Given the description of an element on the screen output the (x, y) to click on. 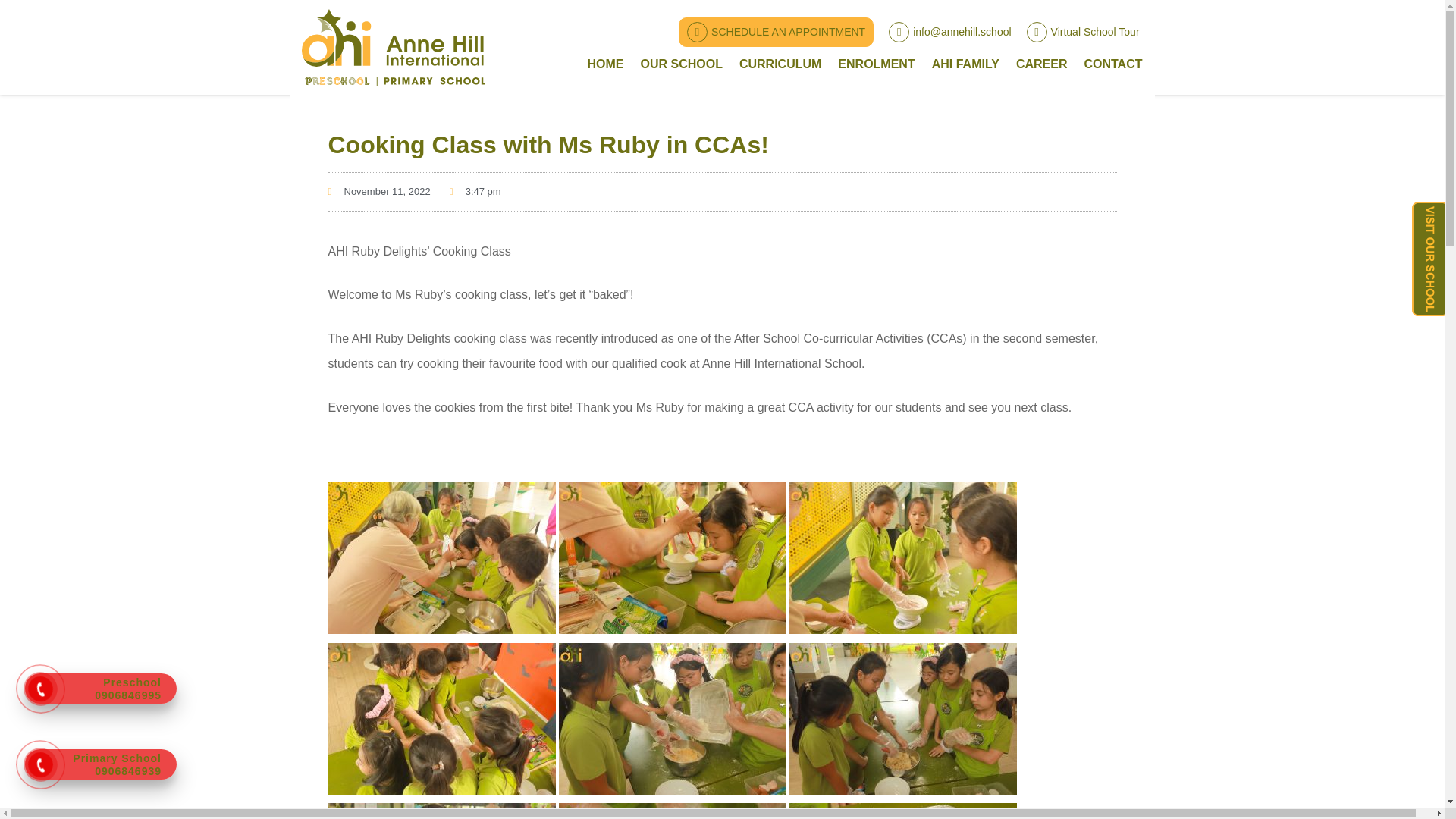
AHI FAMILY (965, 63)
Virtual School Tour (1083, 31)
CURRICULUM (779, 63)
SCHEDULE AN APPOINTMENT (775, 30)
HOME (604, 63)
ENROLMENT (876, 63)
OUR SCHOOL (680, 63)
CONTACT (1112, 63)
CAREER (1041, 63)
